Given the description of an element on the screen output the (x, y) to click on. 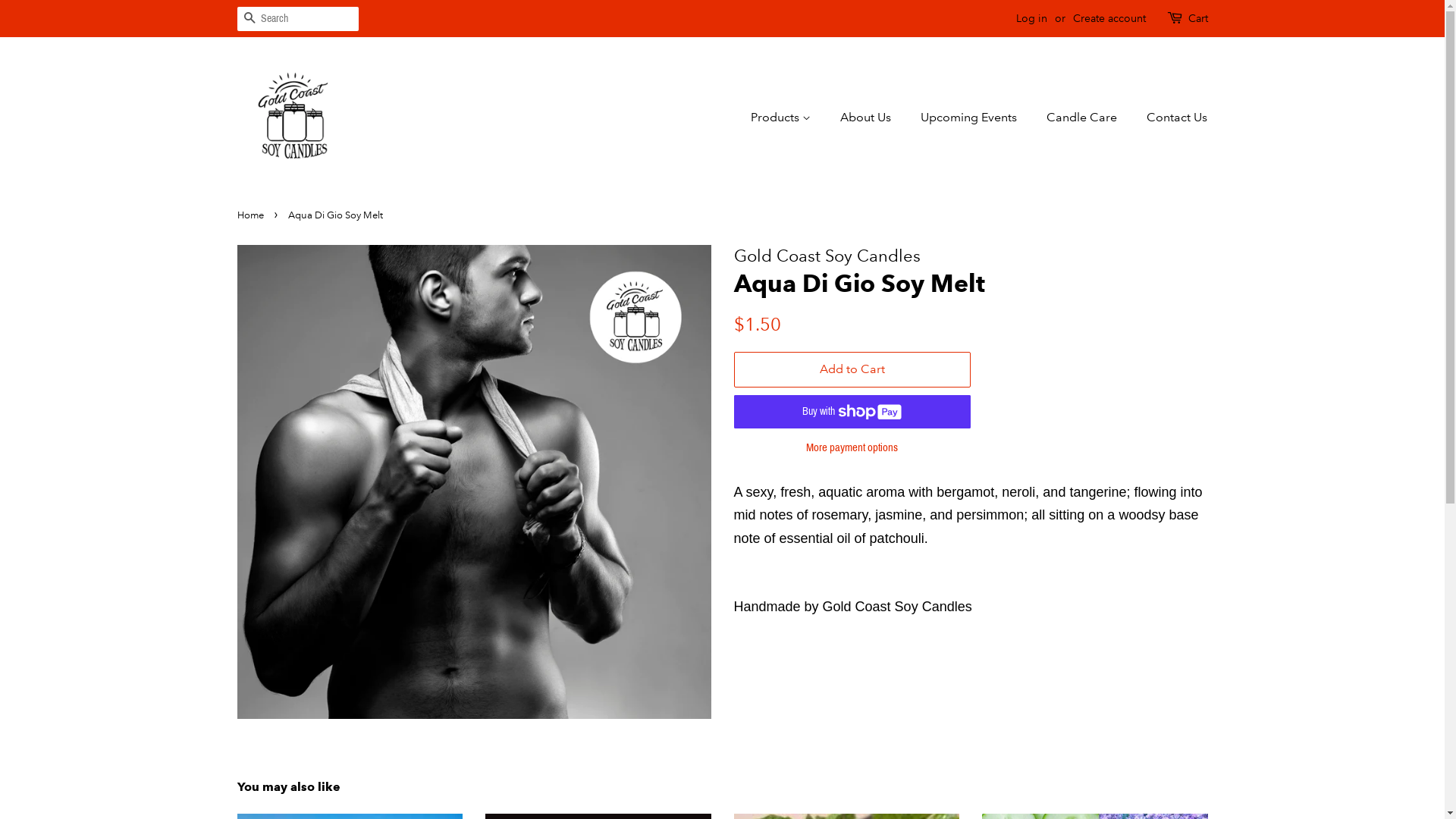
Add to Cart Element type: text (852, 369)
Cart Element type: text (1197, 18)
Products Element type: text (787, 116)
Candle Care Element type: text (1083, 116)
Contact Us Element type: text (1171, 116)
About Us Element type: text (867, 116)
Log in Element type: text (1031, 18)
Search Element type: text (248, 18)
More payment options Element type: text (852, 446)
Create account Element type: text (1108, 18)
Upcoming Events Element type: text (970, 116)
Home Element type: text (251, 215)
